Given the description of an element on the screen output the (x, y) to click on. 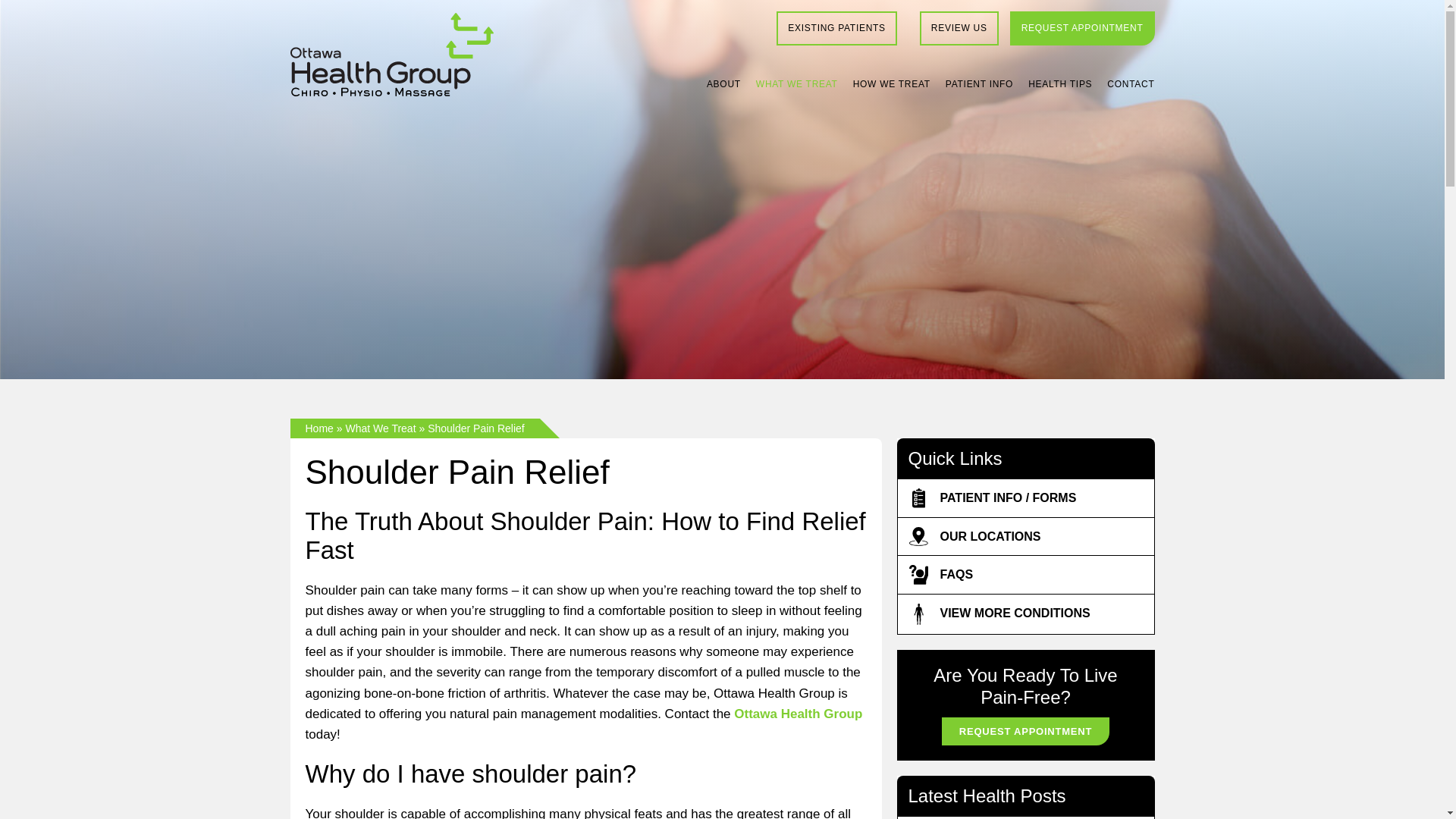
Review Us (959, 28)
About (723, 83)
Patient Info (978, 83)
Health Tips (1059, 83)
How We Treat (891, 83)
EXISTING PATIENTS (836, 28)
REVIEW US (959, 28)
WHAT WE TREAT (796, 83)
What We Treat (796, 83)
ABOUT (723, 83)
Request Appointment (1082, 28)
REQUEST APPOINTMENT (1082, 28)
Contact (1130, 83)
